Given the description of an element on the screen output the (x, y) to click on. 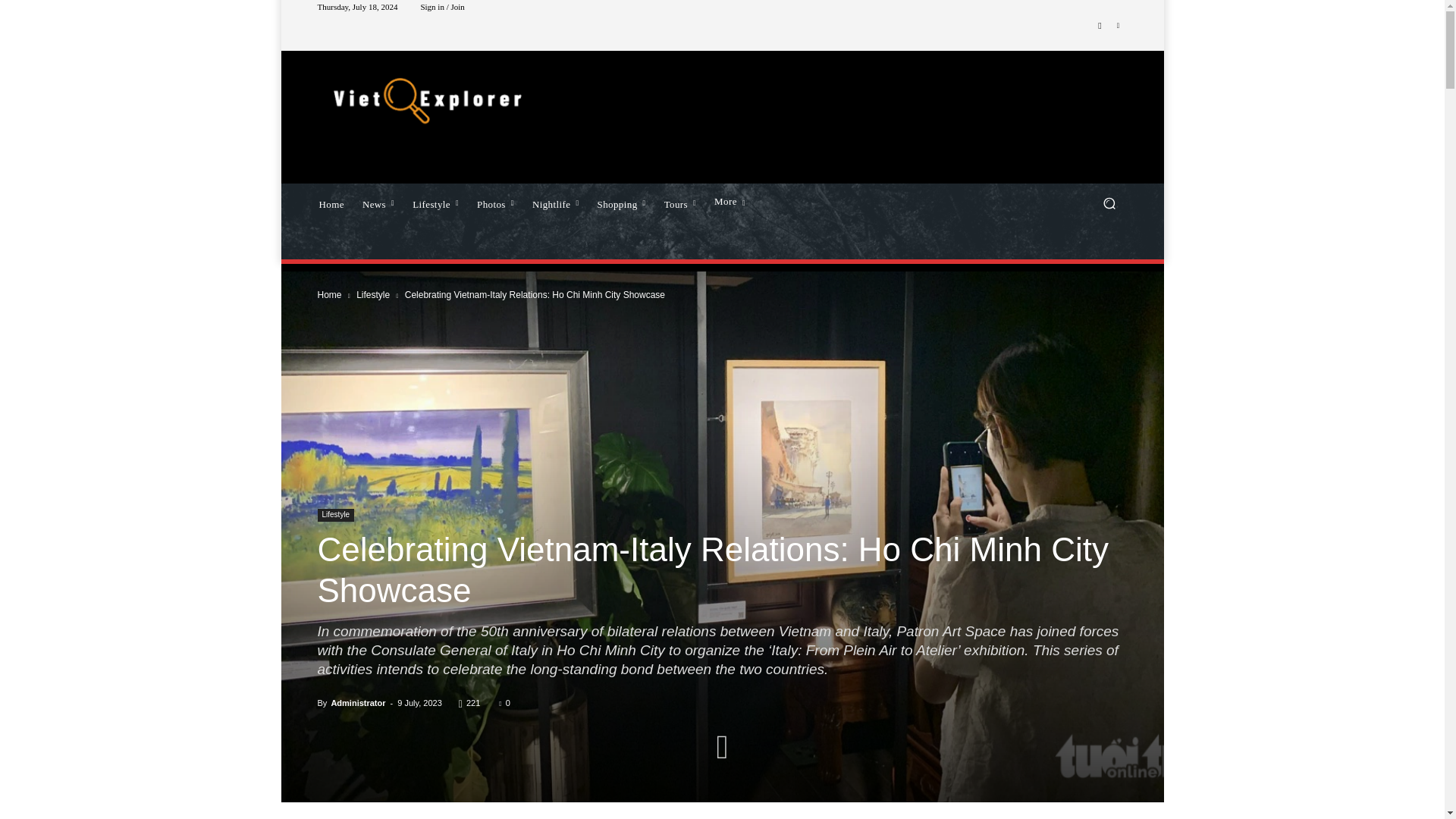
Home (330, 202)
Facebook (1099, 25)
News (378, 202)
Lifestyle (435, 202)
Twitter (1117, 25)
